Given the description of an element on the screen output the (x, y) to click on. 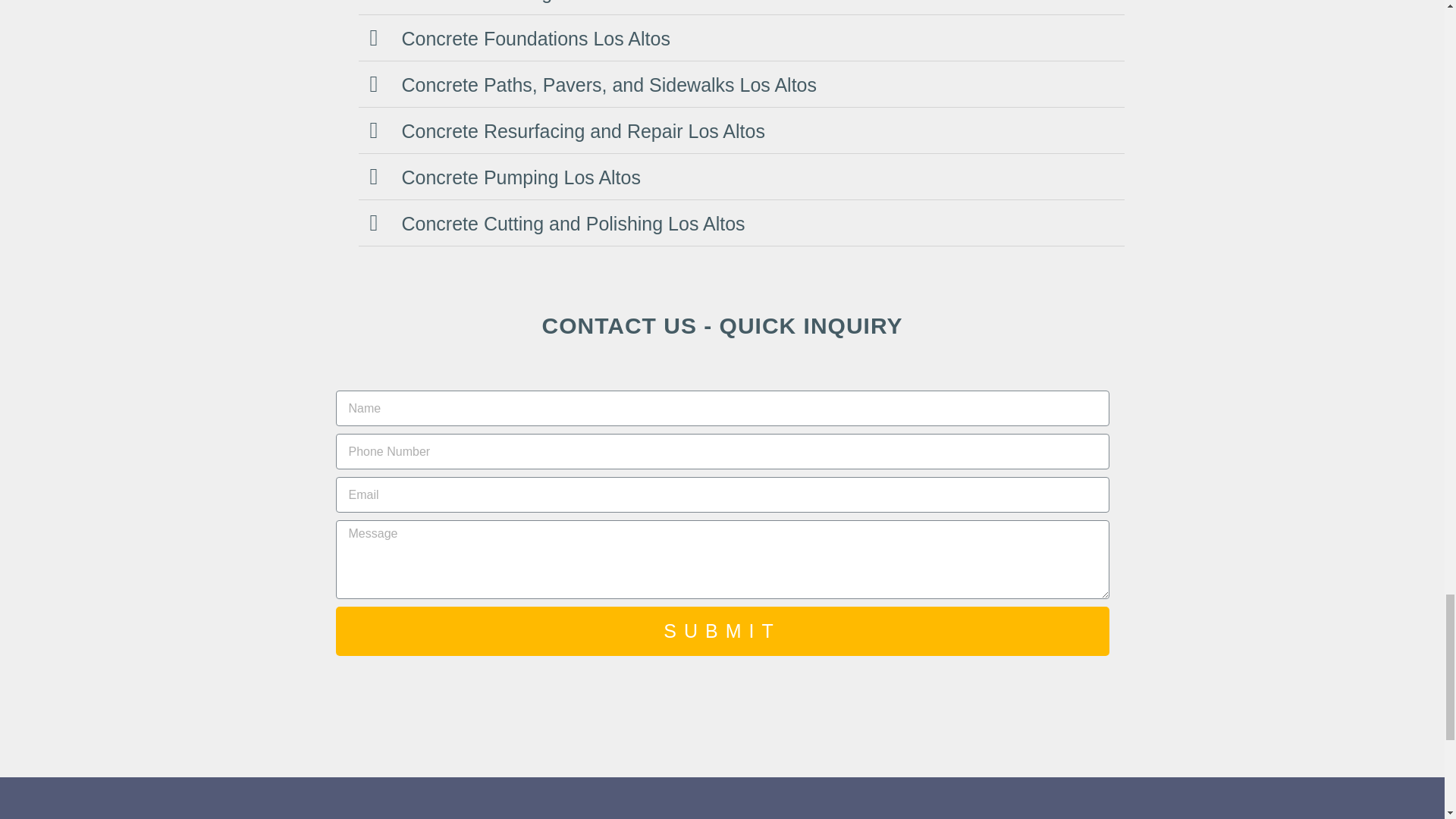
Concrete Cutting and Polishing Los Altos (573, 223)
Concrete Flooring Los Altos (517, 1)
Concrete Foundations Los Altos (535, 38)
Concrete Resurfacing and Repair Los Altos (583, 130)
SUBMIT (721, 631)
Concrete Pumping Los Altos (520, 177)
Concrete Paths, Pavers, and Sidewalks Los Altos (608, 84)
